Given the description of an element on the screen output the (x, y) to click on. 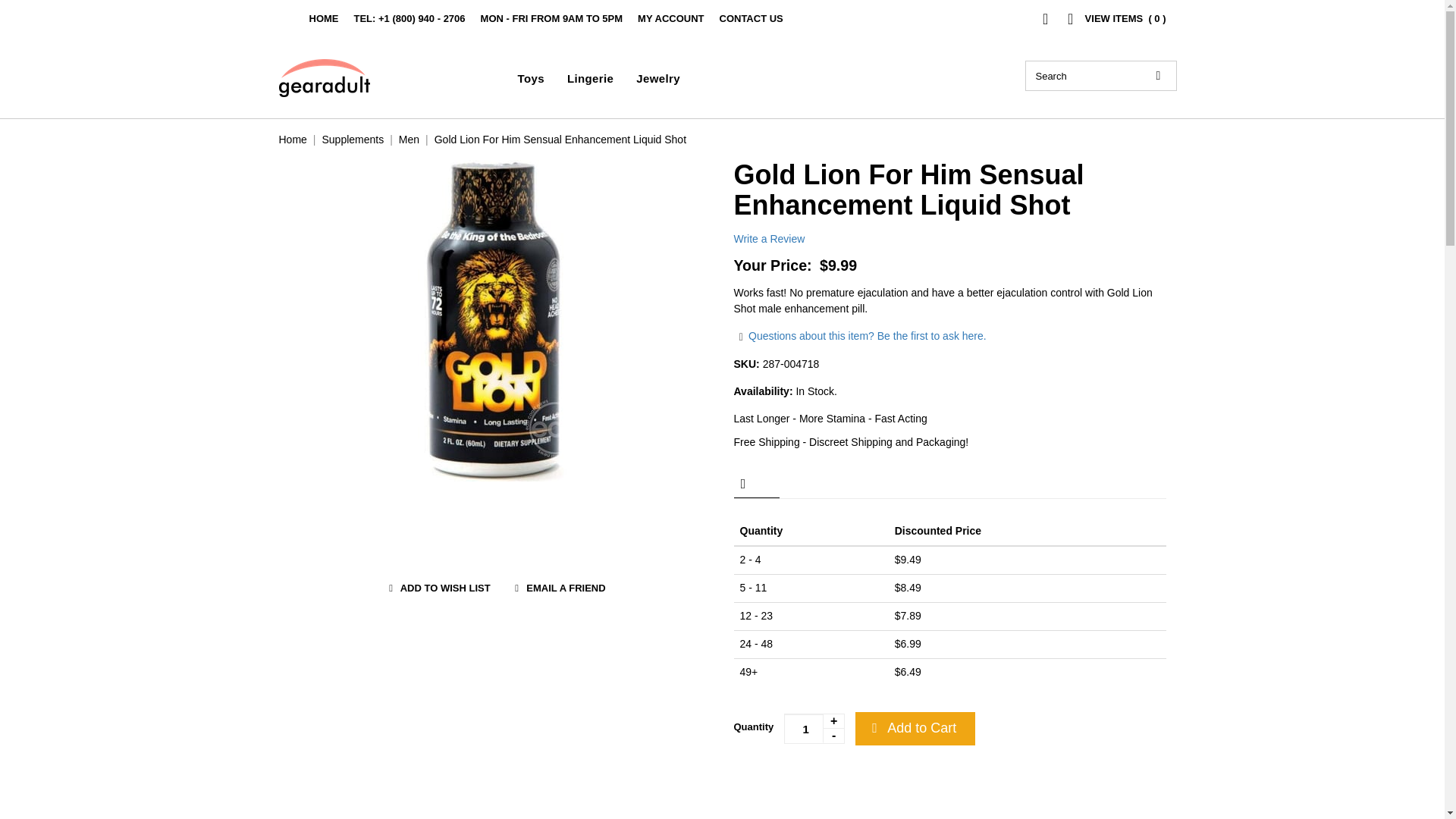
ADD TO WISH LIST (436, 588)
MON - FRI FROM 9AM TO 5PM (551, 18)
Toys (531, 78)
Jewelry (657, 78)
1 (814, 728)
HOME (323, 18)
Questions about this item? Be the first to ask here. (860, 336)
Gold Lion For Him Sensual Enhancement Liquid Shot (559, 139)
Supplements (352, 139)
Home (293, 139)
